Given the description of an element on the screen output the (x, y) to click on. 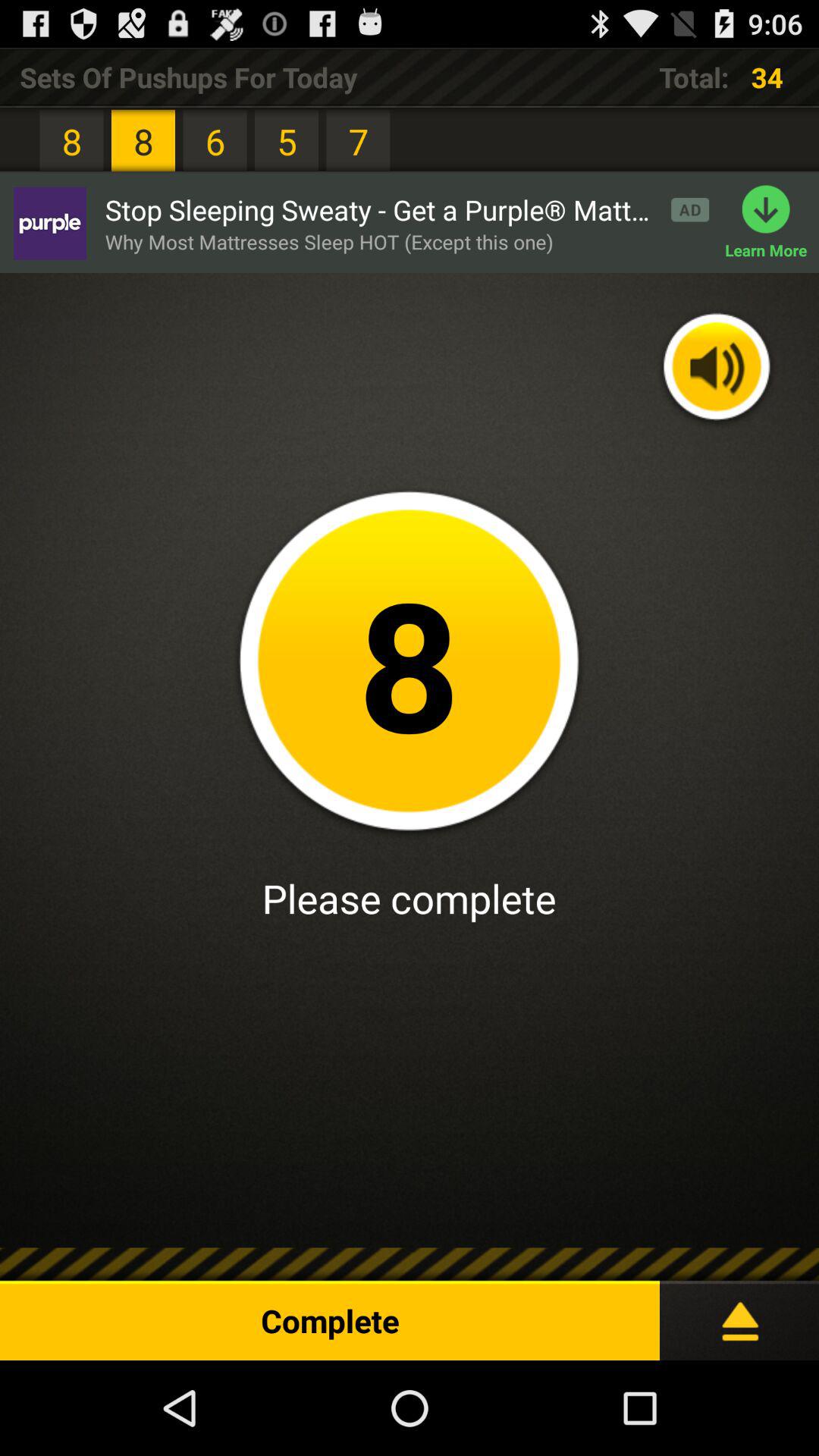
turn on the app next to stop sleeping sweaty (772, 223)
